Given the description of an element on the screen output the (x, y) to click on. 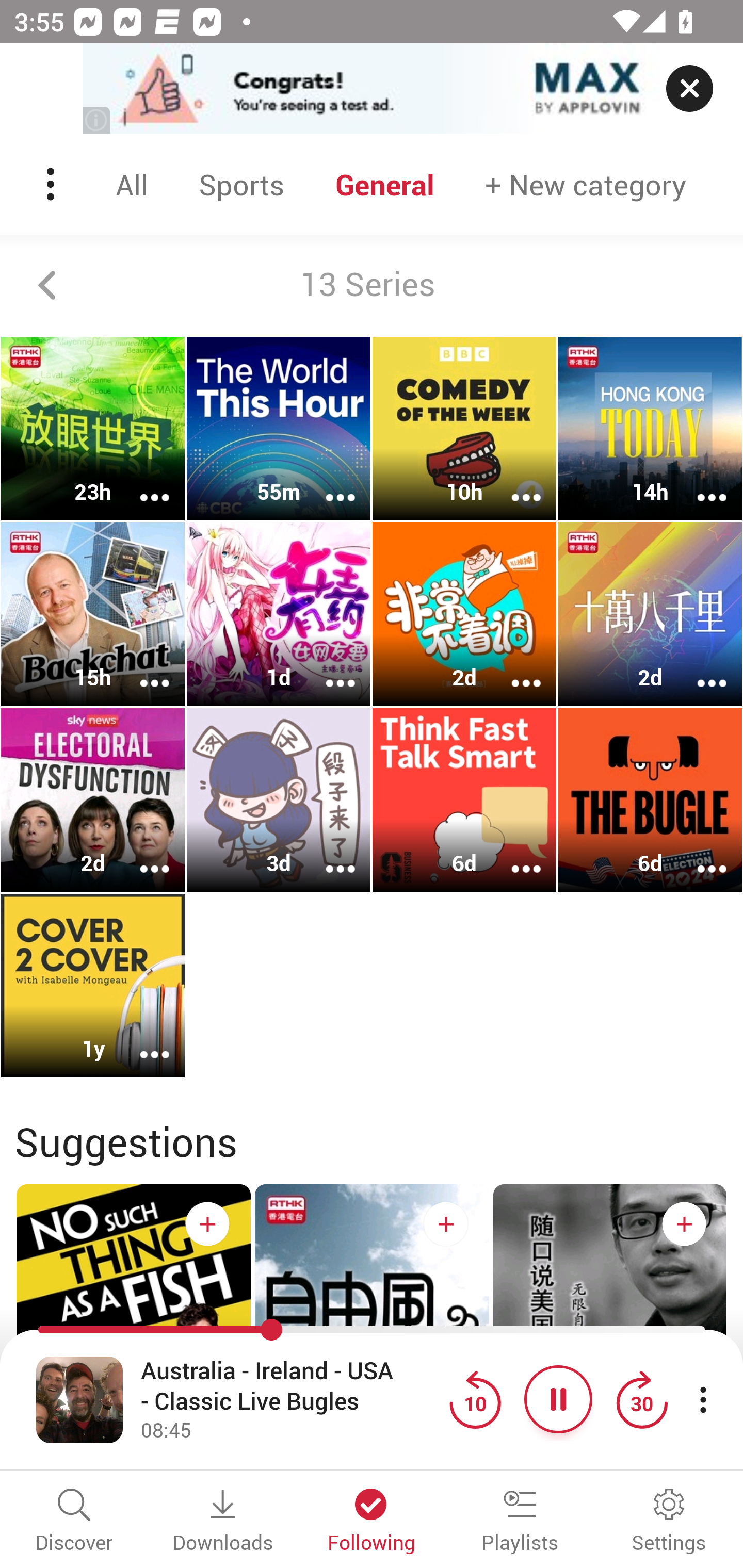
app-monetization (371, 88)
(i) (96, 119)
Menu (52, 184)
All (131, 184)
Sports (241, 184)
General (384, 184)
New category + New category (585, 184)
13 Series (371, 285)
放眼世界 23h More options More options (92, 428)
The World This Hour 55m More options More options (278, 428)
Comedy of the Week 10h More options More options (464, 428)
Hong Kong Today 14h More options More options (650, 428)
More options (141, 484)
More options (326, 484)
More options (512, 484)
More options (698, 484)
Backchat 15h More options More options (92, 614)
女王有药丨爆笑脱口秀 1d More options More options (278, 614)
非常不着调 2d More options More options (464, 614)
十萬八千里 2d More options More options (650, 614)
More options (141, 669)
More options (326, 669)
More options (512, 669)
More options (698, 669)
Electoral Dysfunction 2d More options More options (92, 799)
段子来了 3d More options More options (278, 799)
The Bugle 6d More options More options (650, 799)
More options (141, 856)
More options (326, 856)
More options (512, 856)
More options (698, 856)
Cover 2 Cover 1y More options More options (92, 985)
More options (141, 1041)
自由风自由PHONE 自由风自由PHONE Subscribe button (371, 1339)
随口说美国 随口说美国 Subscribe button (609, 1339)
Subscribe button (207, 1223)
Subscribe button (446, 1223)
Subscribe button (684, 1223)
Open fullscreen player (79, 1399)
More player controls (703, 1399)
Australia - Ireland - USA - Classic Live Bugles (290, 1385)
Pause button (558, 1398)
Jump back (475, 1399)
Jump forward (641, 1399)
Discover (74, 1521)
Downloads (222, 1521)
Following (371, 1521)
Playlists (519, 1521)
Settings (668, 1521)
